Given the description of an element on the screen output the (x, y) to click on. 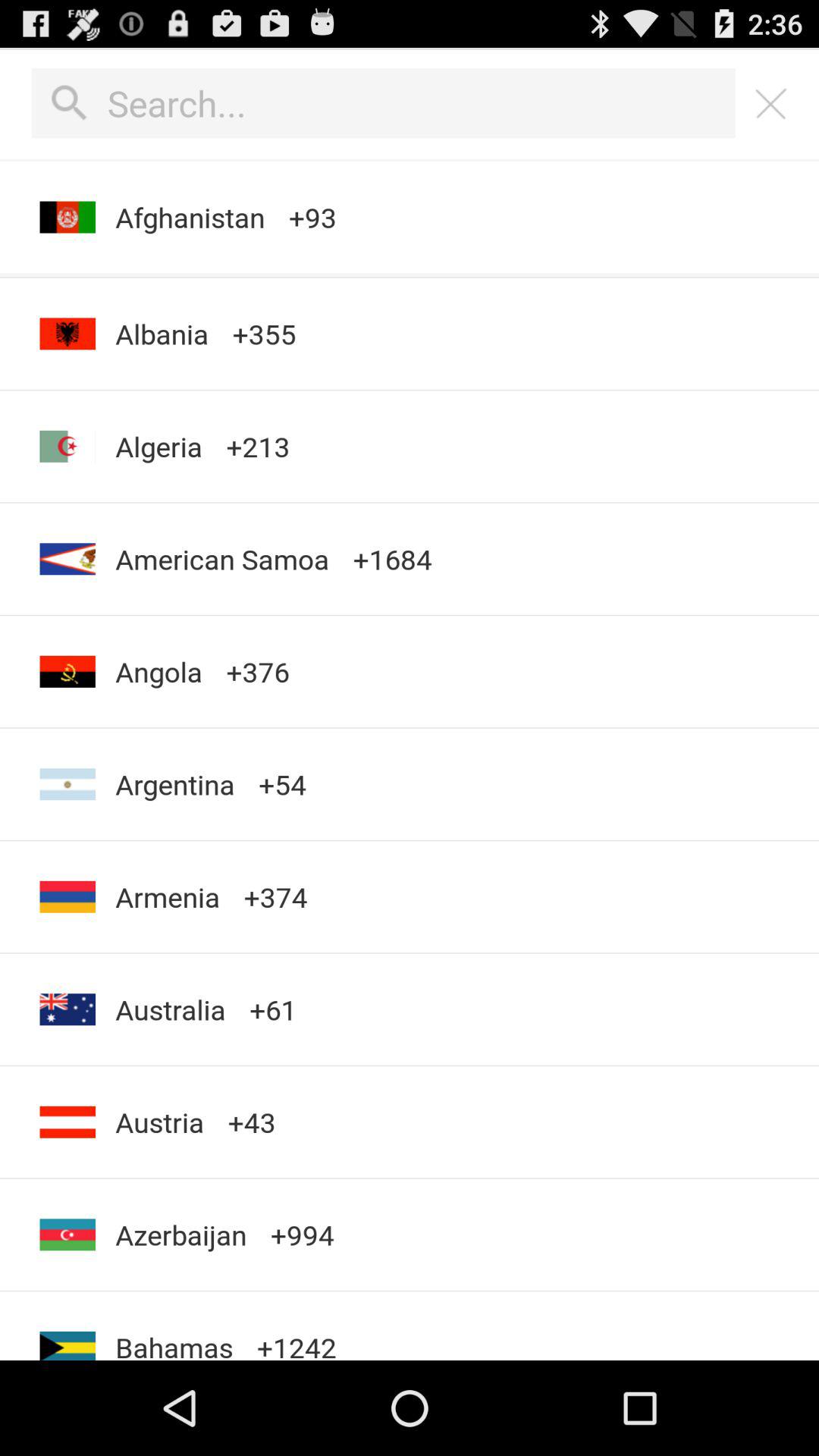
click the item below afghanistan app (409, 274)
